Given the description of an element on the screen output the (x, y) to click on. 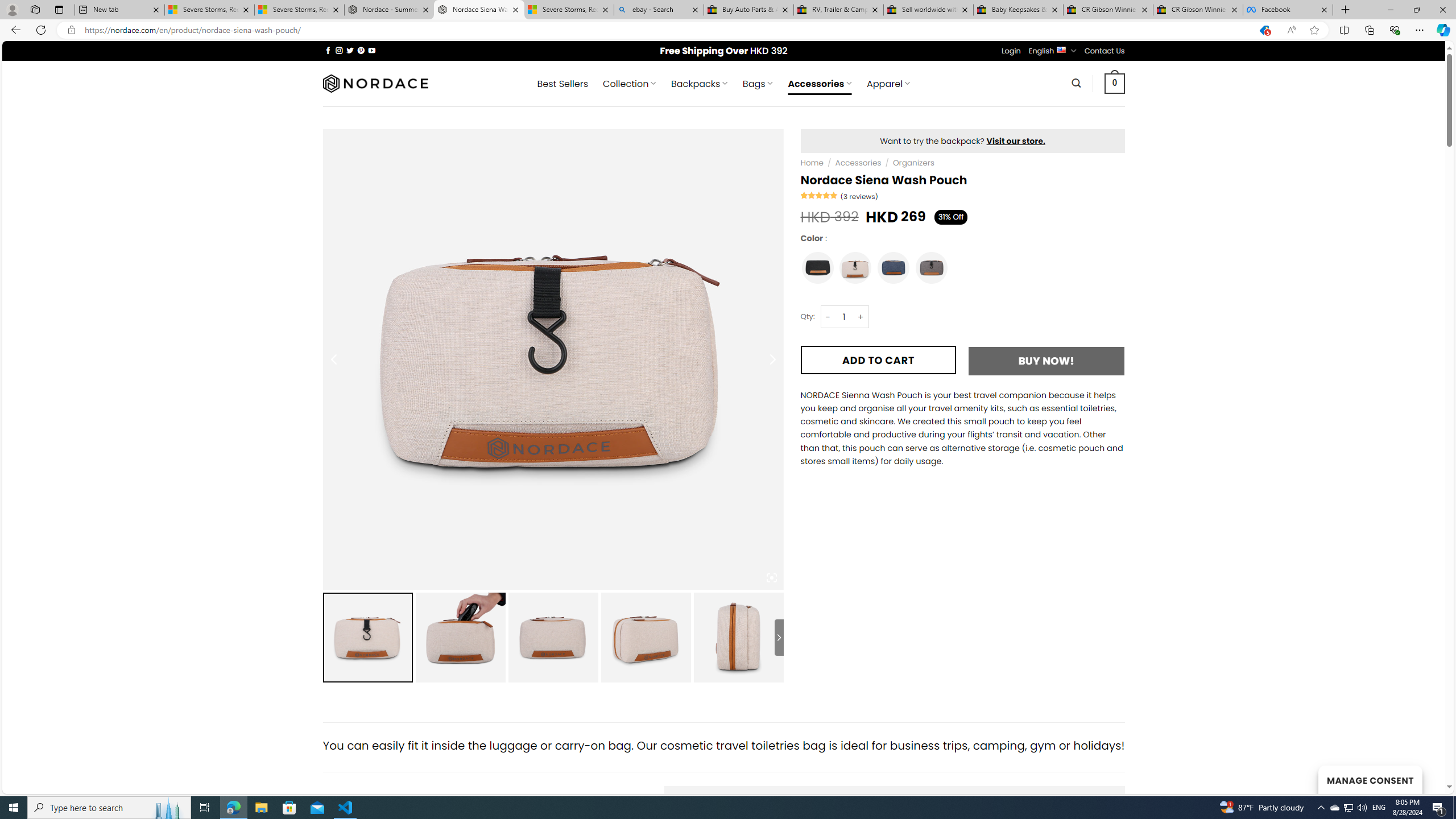
Nordace Siena Wash Pouch quantity (843, 316)
Baby Keepsakes & Announcements for sale | eBay (1018, 9)
  Best Sellers (562, 83)
This site has coupons! Shopping in Microsoft Edge, 5 (1263, 29)
Login (1010, 50)
Visit our store. (1015, 140)
Facebook (1287, 9)
